Given the description of an element on the screen output the (x, y) to click on. 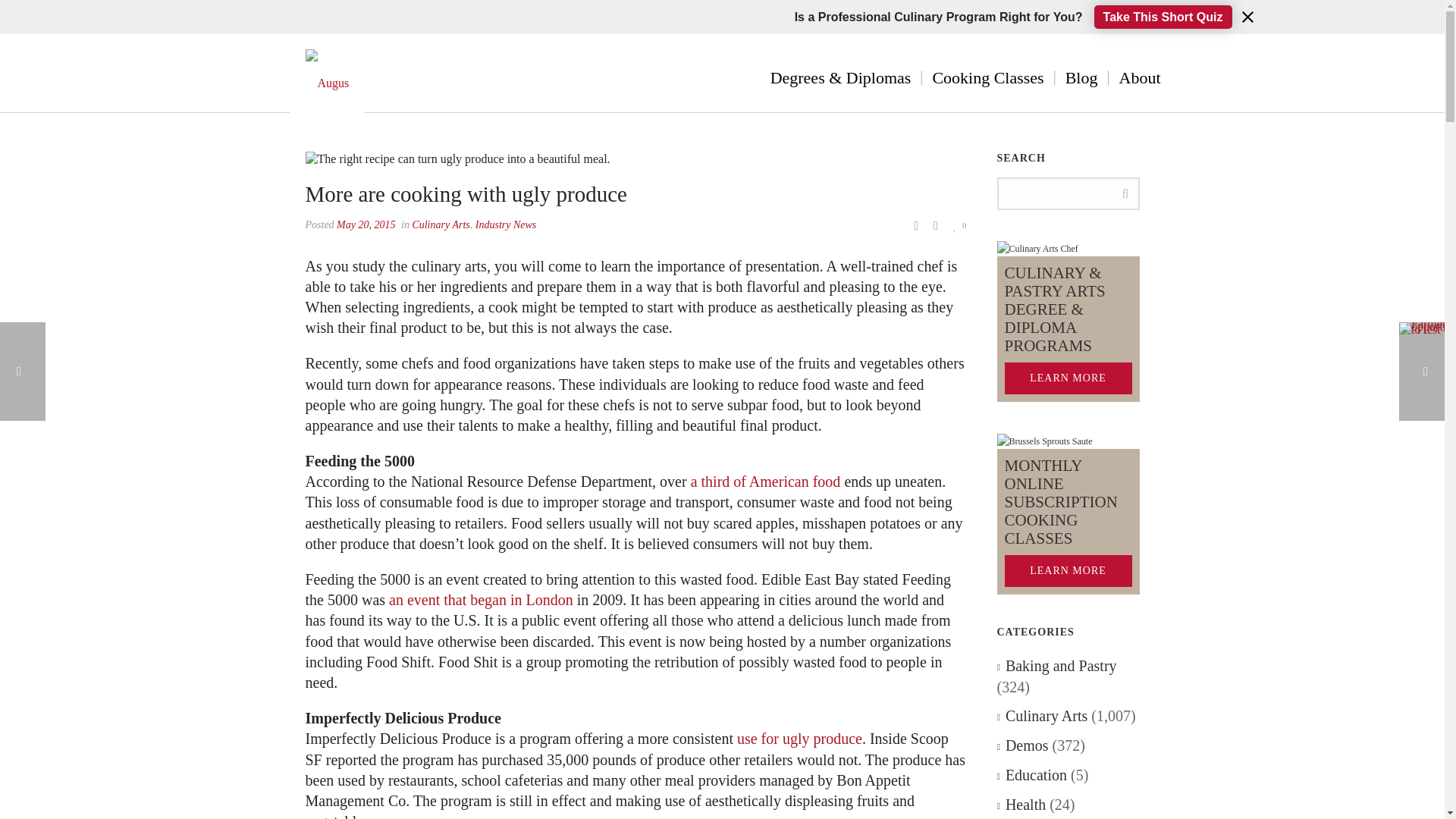
use for ugly produce (798, 738)
Close (1247, 16)
Industry News (506, 224)
  0 (959, 223)
Cooking Classes (987, 78)
More are cooking with ugly produce (635, 158)
LEARN MORE (1067, 571)
Is a Professional Culinary Program Right for You? (938, 25)
